Given the description of an element on the screen output the (x, y) to click on. 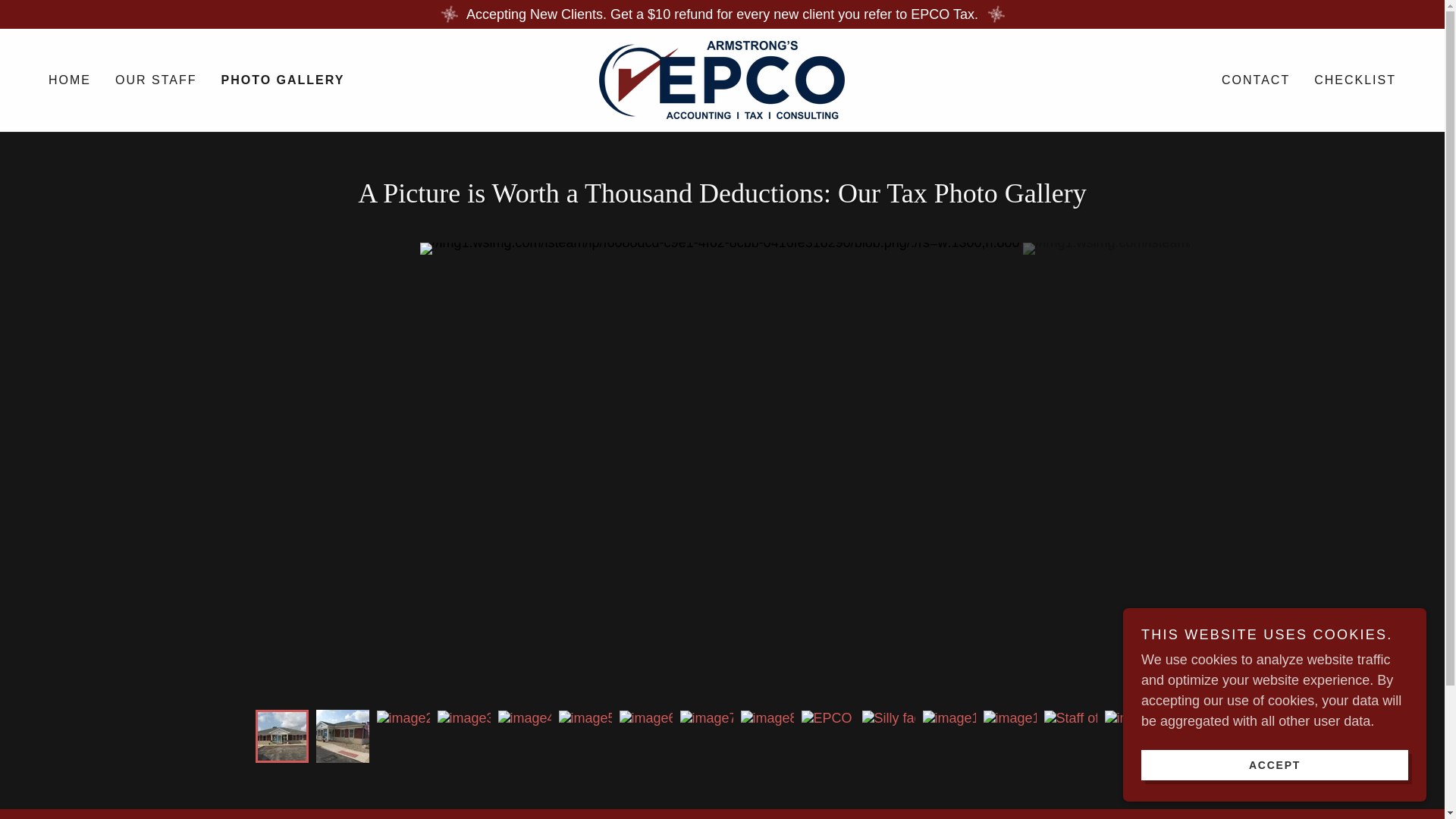
OUR STAFF (155, 80)
ACCEPT (1274, 764)
HOME (69, 80)
PHOTO GALLERY (282, 80)
CONTACT (1255, 80)
CHECKLIST (1354, 80)
